Given the description of an element on the screen output the (x, y) to click on. 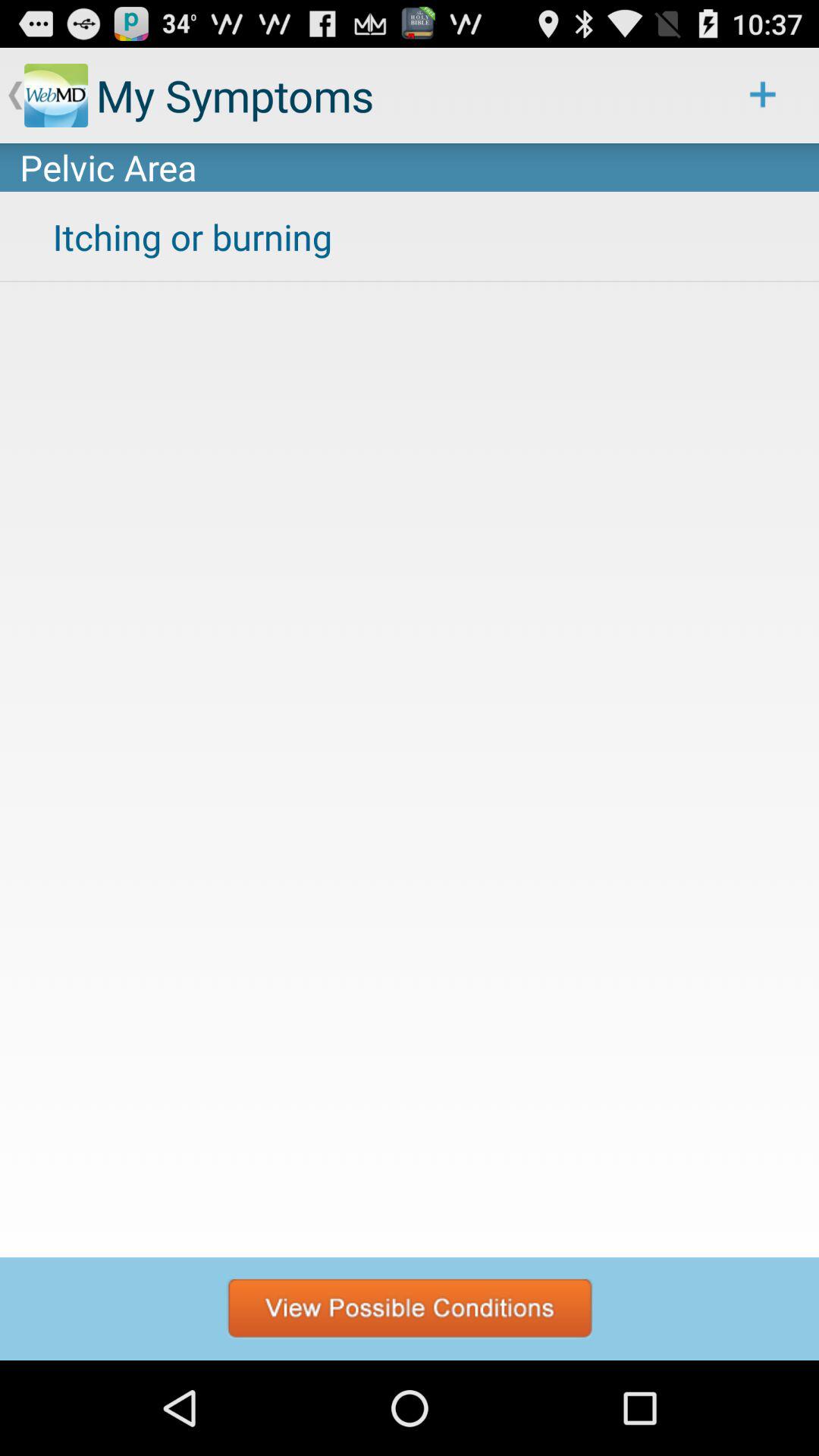
see possible conditions (409, 1308)
